Given the description of an element on the screen output the (x, y) to click on. 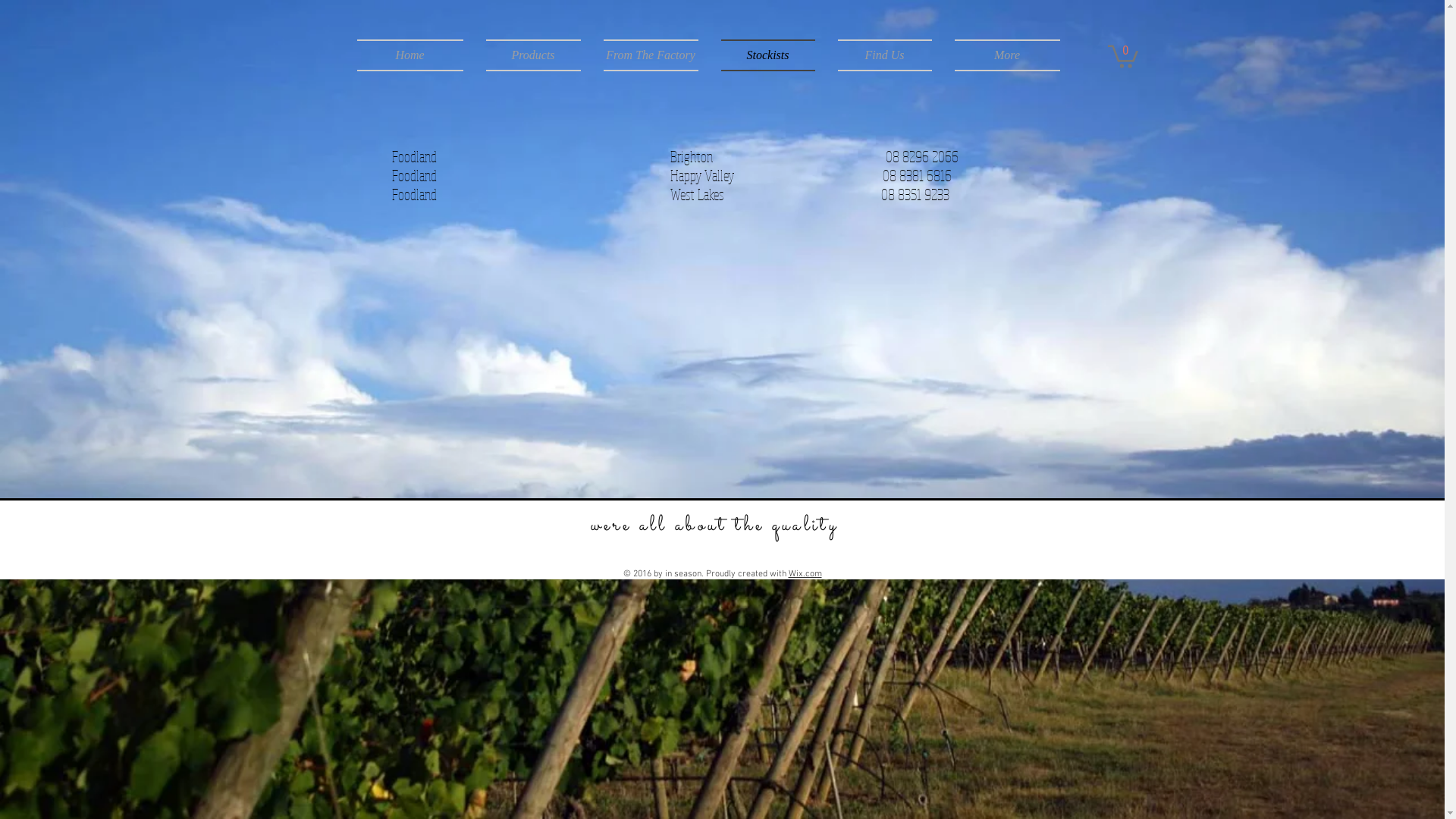
From The Factory Element type: text (650, 55)
Stockists Element type: text (767, 55)
Products Element type: text (533, 55)
Find Us Element type: text (884, 55)
Home Element type: text (414, 55)
Wix.com Element type: text (805, 573)
0 Element type: text (1122, 55)
